Given the description of an element on the screen output the (x, y) to click on. 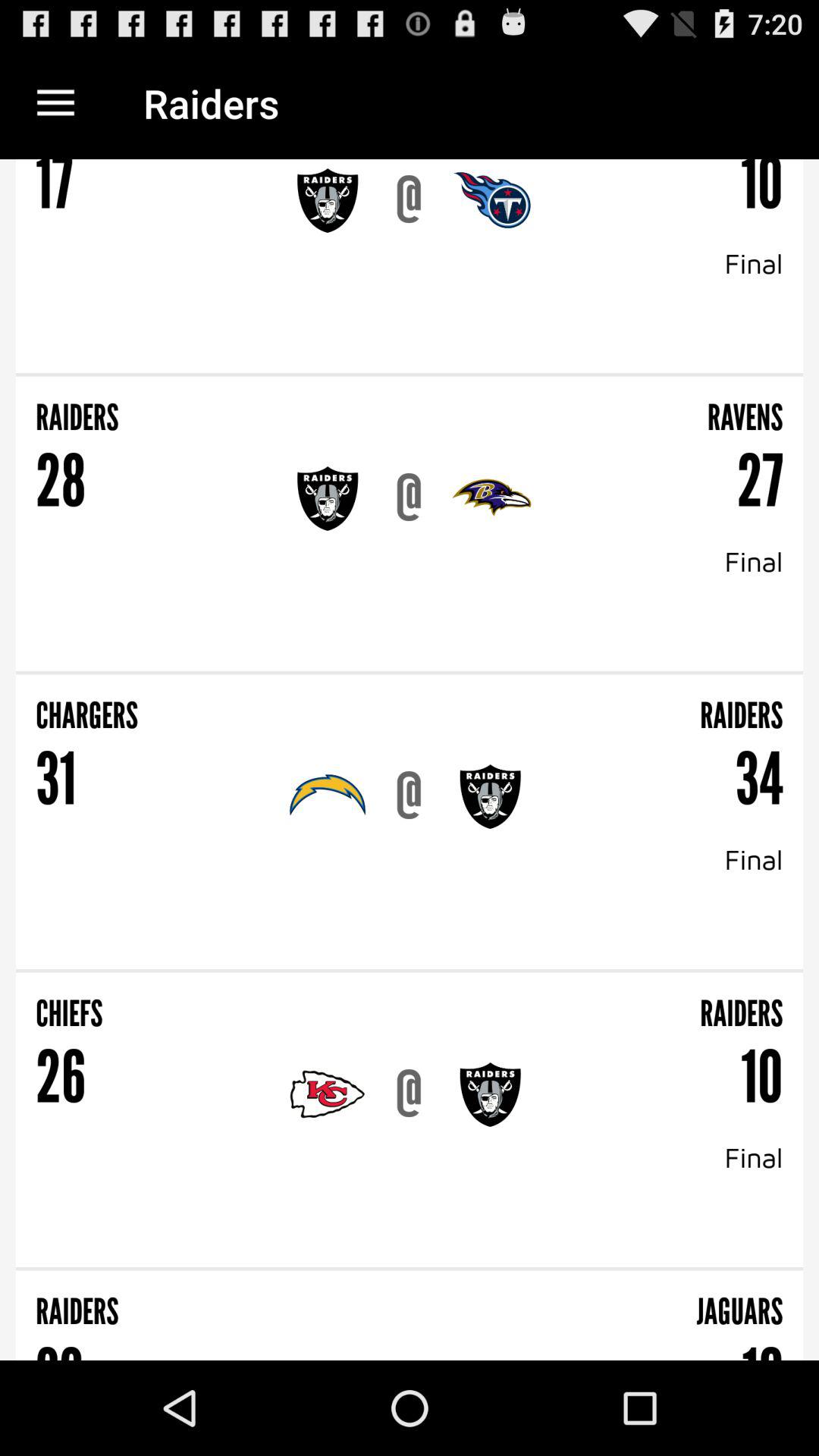
select the item below chiefs item (408, 1094)
